Given the description of an element on the screen output the (x, y) to click on. 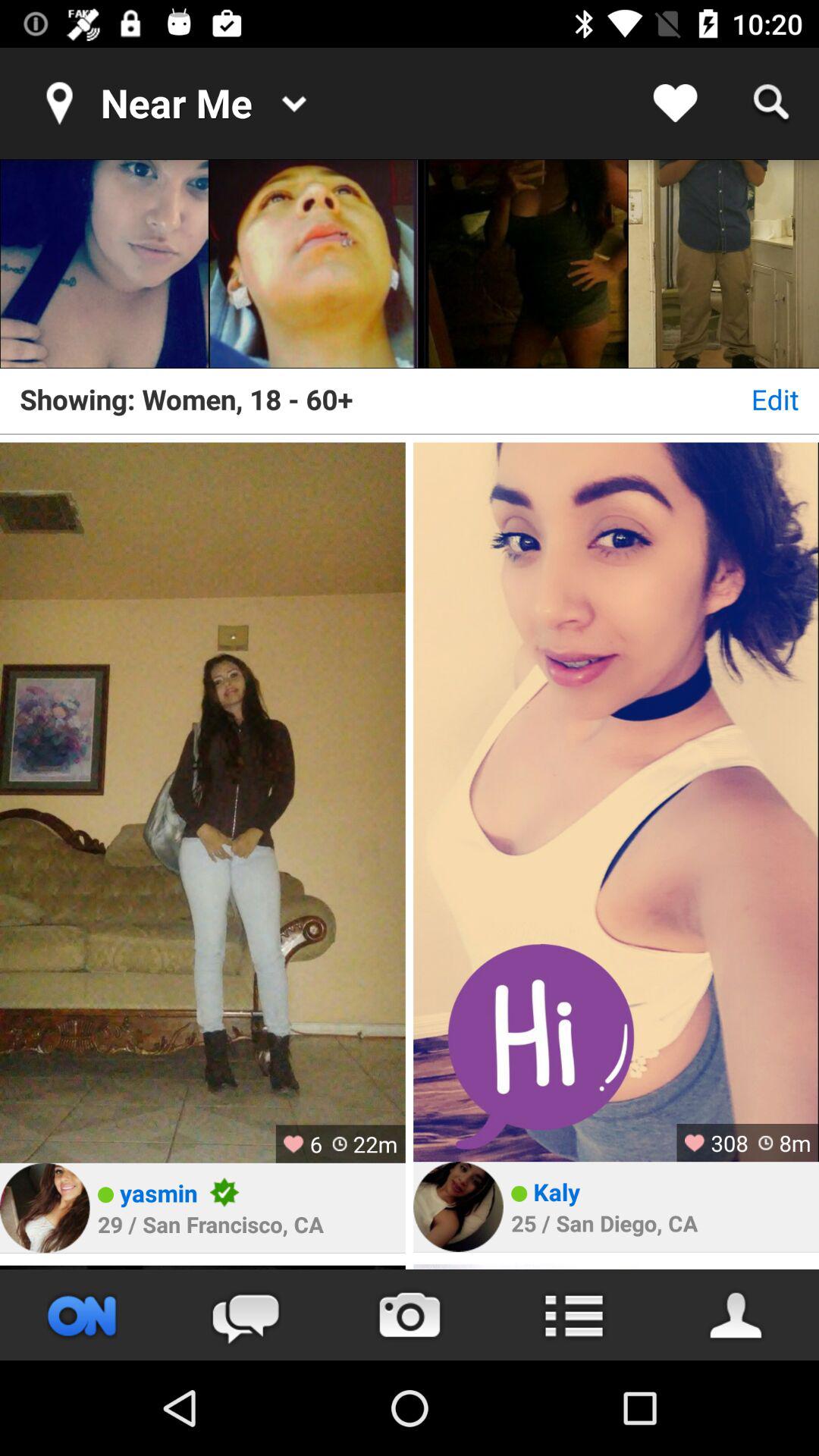
profile picture for kaly (458, 1206)
